Given the description of an element on the screen output the (x, y) to click on. 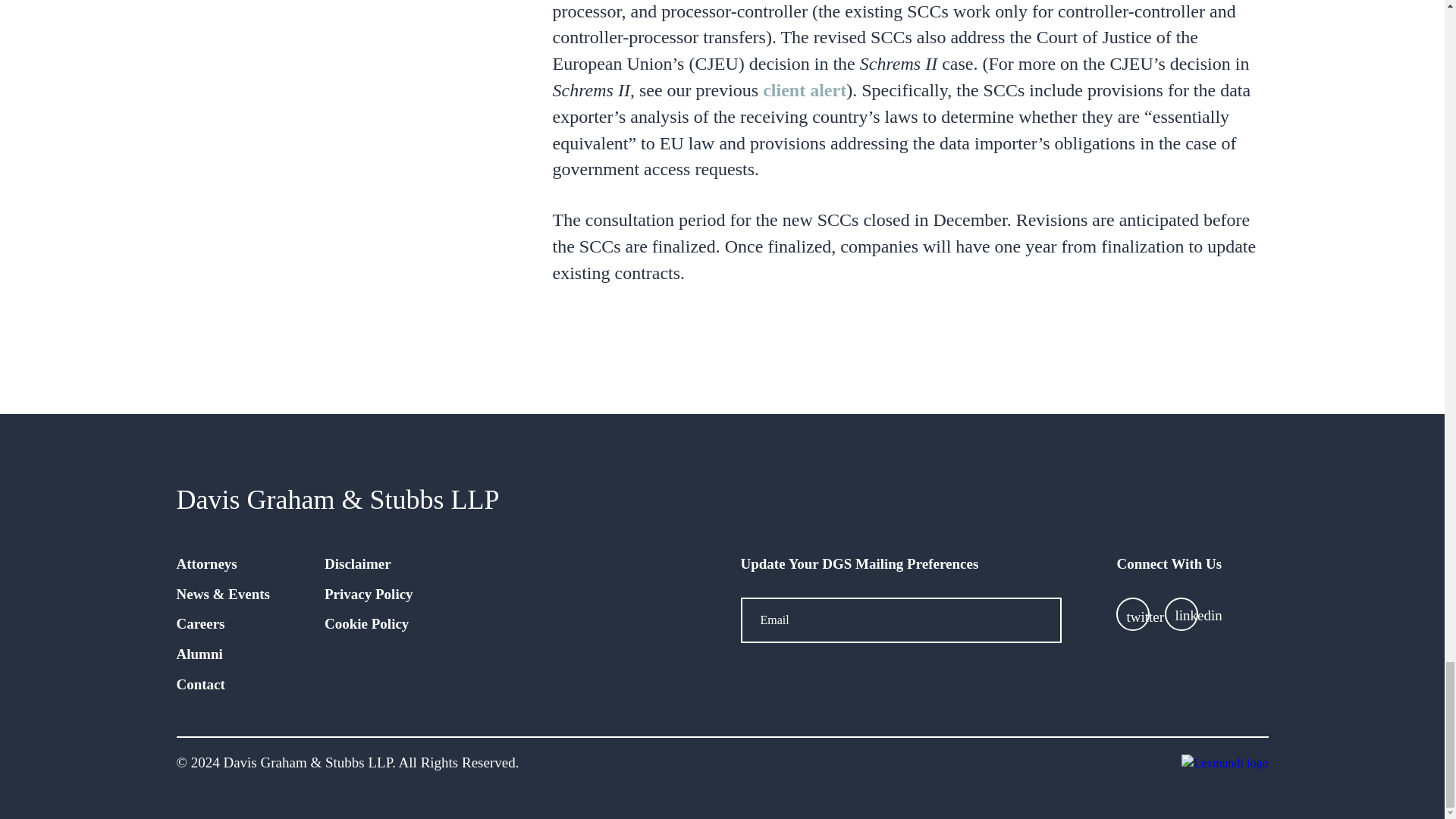
Careers (200, 623)
client alert (803, 89)
Alumni (199, 653)
Attorneys (205, 563)
